Given the description of an element on the screen output the (x, y) to click on. 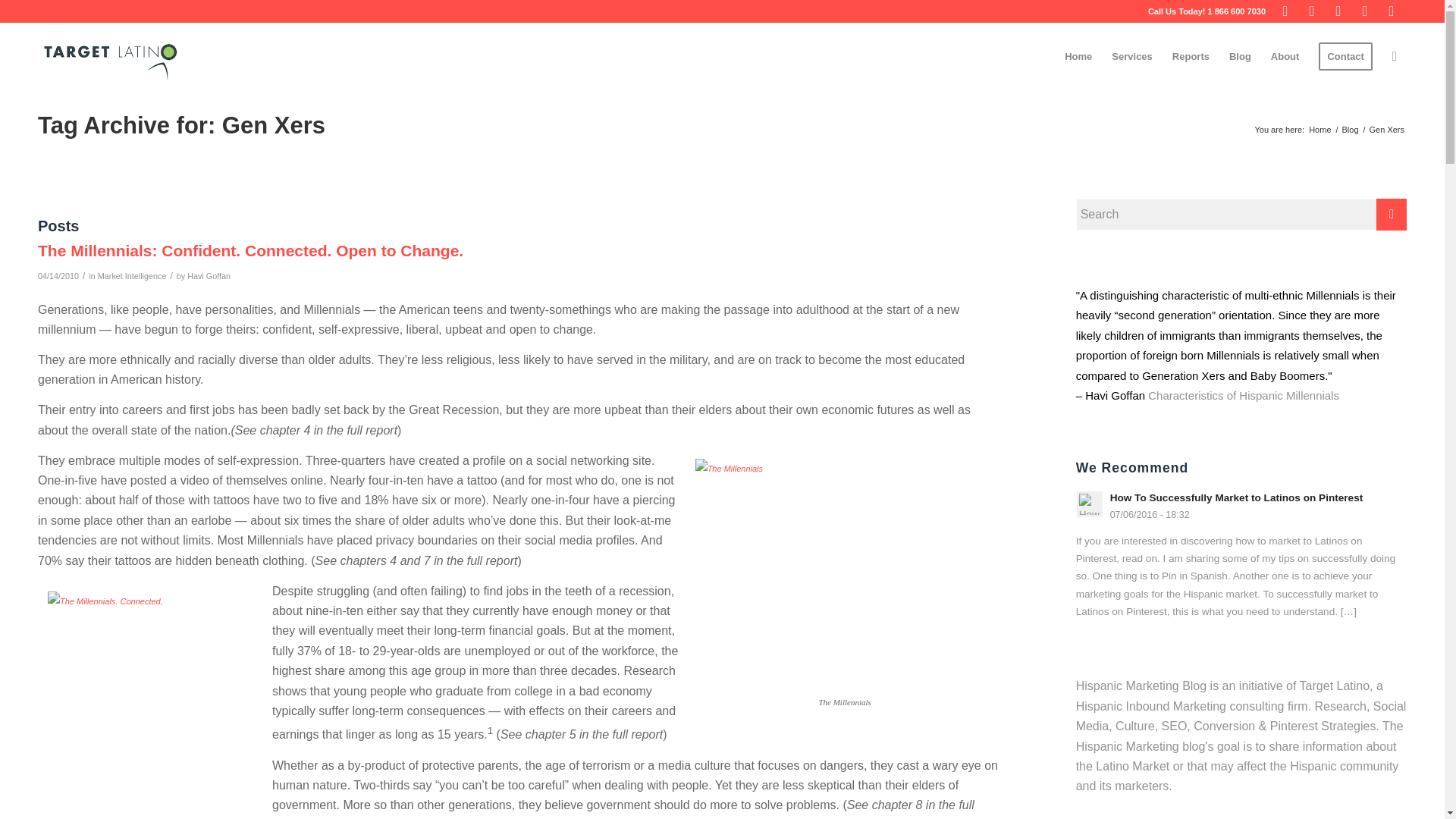
Blog (1349, 129)
The Millennials: Confident. Connected. Open to Change. (250, 250)
Blog (1349, 129)
Pinterest (1364, 11)
Tag Archive for: Gen Xers (180, 125)
The Millennials. Connected. (153, 702)
The Millennials (844, 572)
LinkedIn (1391, 11)
Posts by Havi Goffan (208, 275)
